Given the description of an element on the screen output the (x, y) to click on. 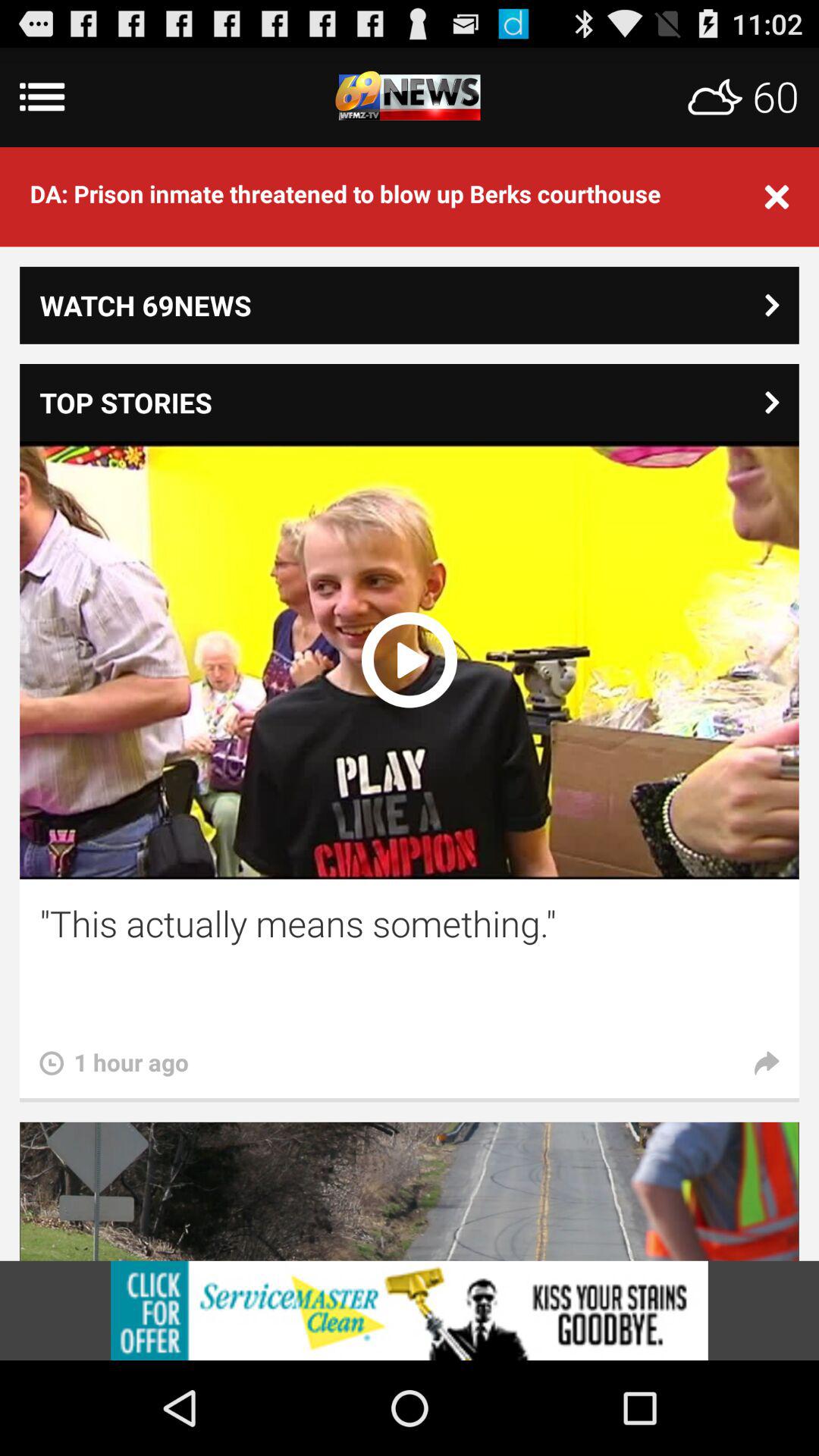
make advertisement (409, 1310)
